Given the description of an element on the screen output the (x, y) to click on. 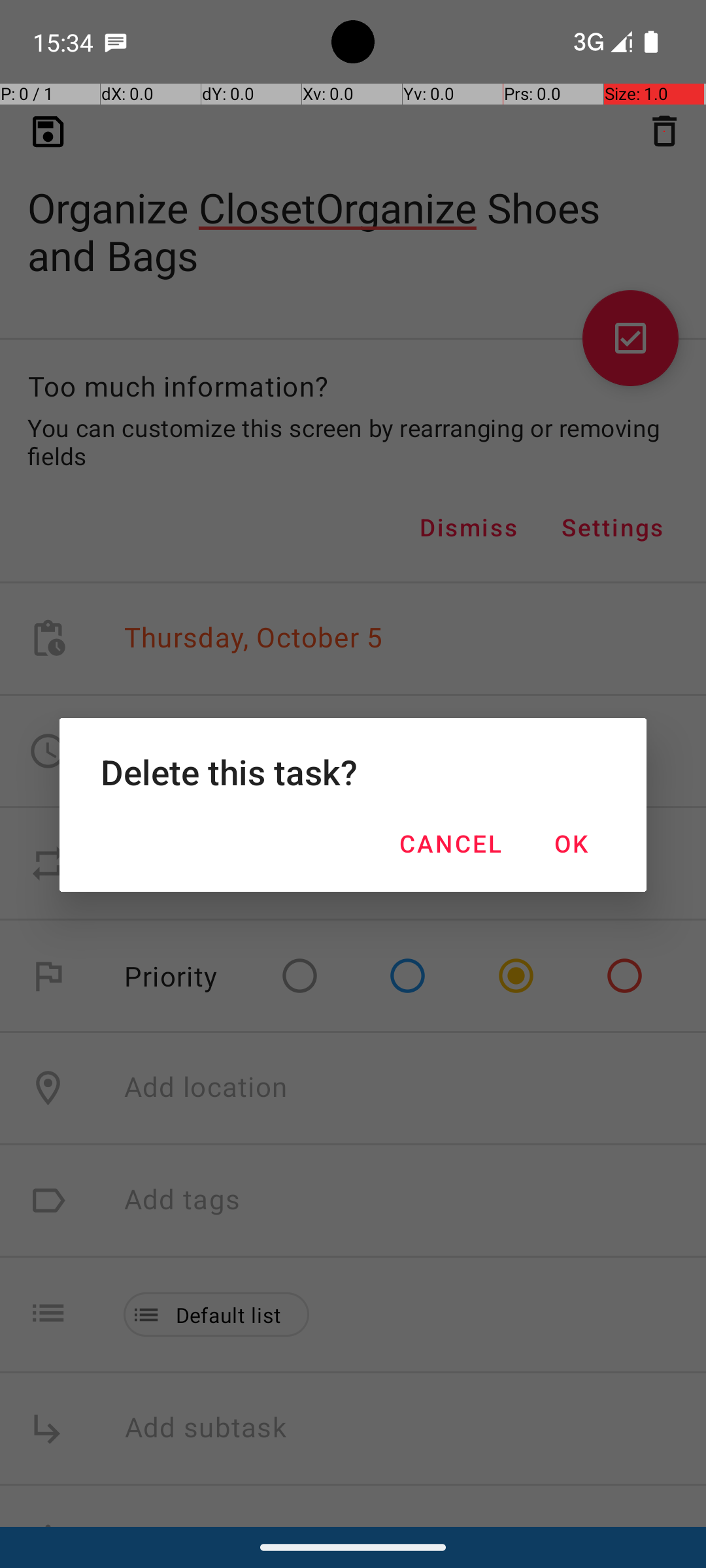
Delete this task? Element type: android.widget.TextView (352, 771)
